Given the description of an element on the screen output the (x, y) to click on. 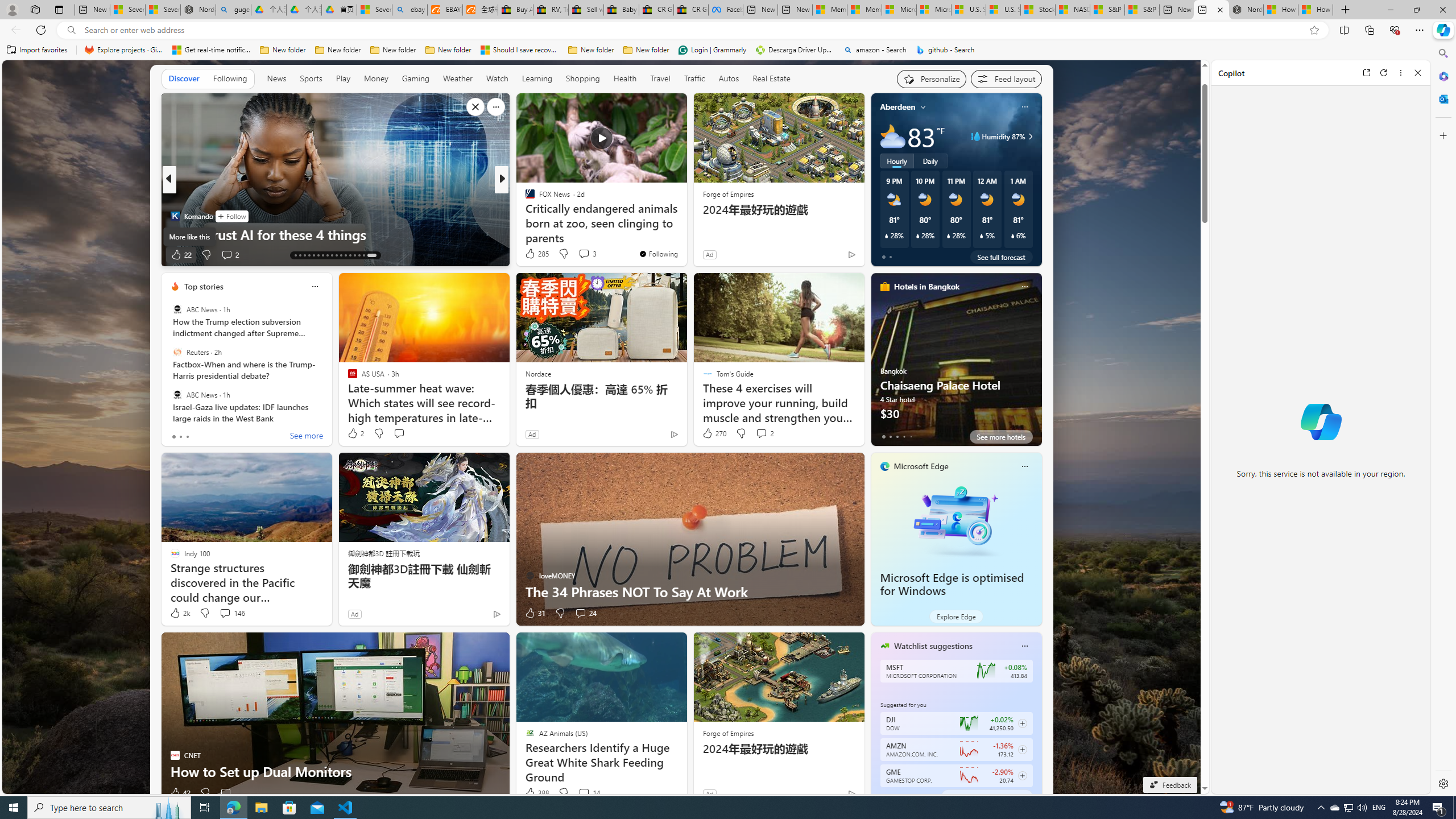
Sports (310, 79)
View comments 2 Comment (761, 432)
View comments 24 Comment (580, 613)
Microsoft Edge (921, 466)
Autos (729, 78)
Side bar (1443, 418)
AutomationID: tab-19 (322, 255)
AutomationID: tab-21 (331, 255)
42 Like (179, 792)
Nordace - Summer Adventures 2024 (1246, 9)
Personalize your feed" (931, 78)
AutomationID: tab-23 (340, 255)
View comments 146 Comment (231, 612)
